Given the description of an element on the screen output the (x, y) to click on. 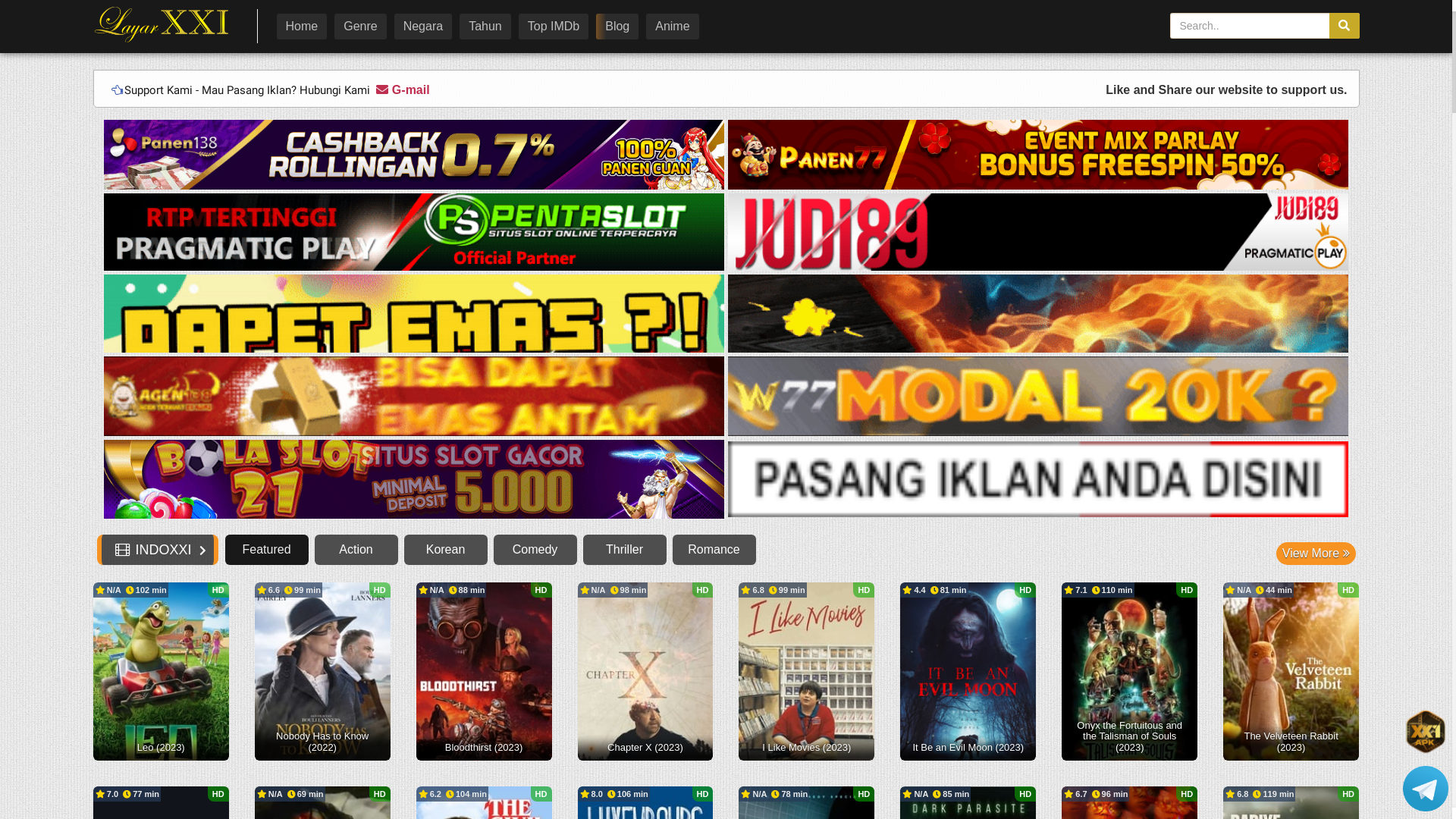
INDOXXI Element type: hover (163, 23)
Featured Element type: text (266, 549)
Comedy Element type: text (535, 549)
HD
N/A
98
Chapter X (2023) Element type: text (645, 671)
  G-mail Element type: text (401, 89)
HD
6.6
99
Nobody Has to Know (2022) Element type: text (322, 671)
HD
N/A
44
The Velveteen Rabbit (2023) Element type: text (1290, 671)
W77 Element type: hover (1038, 397)
HD
4.4
81
It Be an Evil Moon (2023) Element type: text (967, 671)
Bolaslot21 Element type: hover (415, 479)
Asu138 Element type: hover (413, 313)
Judi89 Element type: hover (1038, 232)
HD
N/A
88
Bloodthirst (2023) Element type: text (484, 671)
Anime Element type: text (672, 26)
AGEN138 Element type: hover (415, 397)
Home Element type: text (301, 26)
Korean Element type: text (445, 549)
Blog Element type: text (617, 26)
HD
N/A
102
Leo (2023) Element type: text (161, 671)
Negara Element type: text (422, 26)
Fire138 Element type: hover (1036, 313)
Thriller Element type: text (624, 549)
Genre Element type: text (359, 26)
Romance Element type: text (714, 549)
Tahun Element type: text (485, 26)
HD
6.8
99
I Like Movies (2023) Element type: text (806, 671)
View More Element type: text (1315, 553)
Pasang iklan Element type: hover (1038, 479)
Pentaslot Element type: hover (415, 232)
Action Element type: text (356, 549)
Top IMDb Element type: text (553, 26)
